Given the description of an element on the screen output the (x, y) to click on. 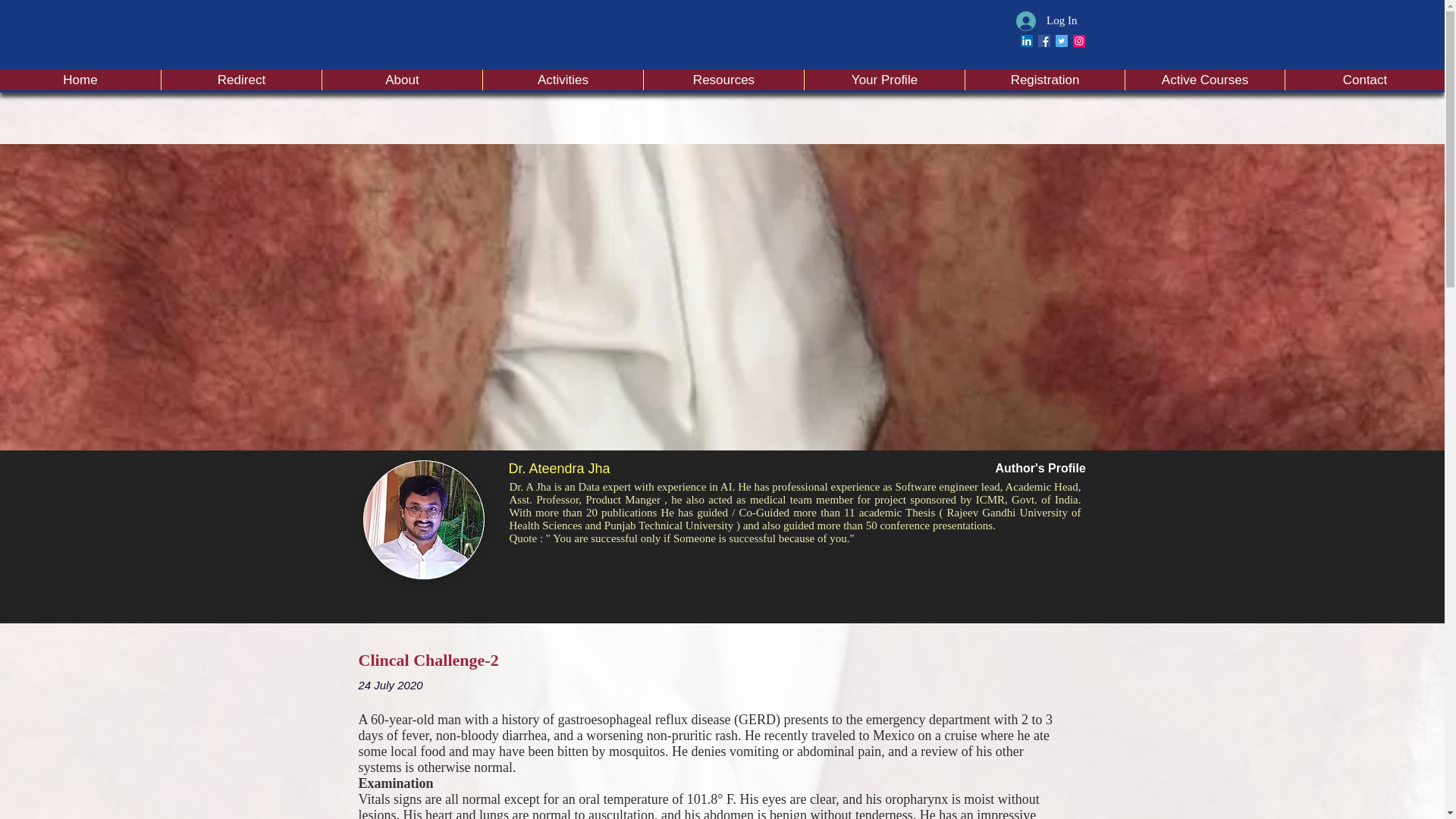
Registration (1043, 79)
Log In (1046, 20)
Home (80, 79)
Activities (562, 79)
Redirect (240, 79)
Your Profile (883, 79)
Author's Profile (1039, 468)
Resources (723, 79)
Active Courses (1204, 79)
About (401, 79)
